Given the description of an element on the screen output the (x, y) to click on. 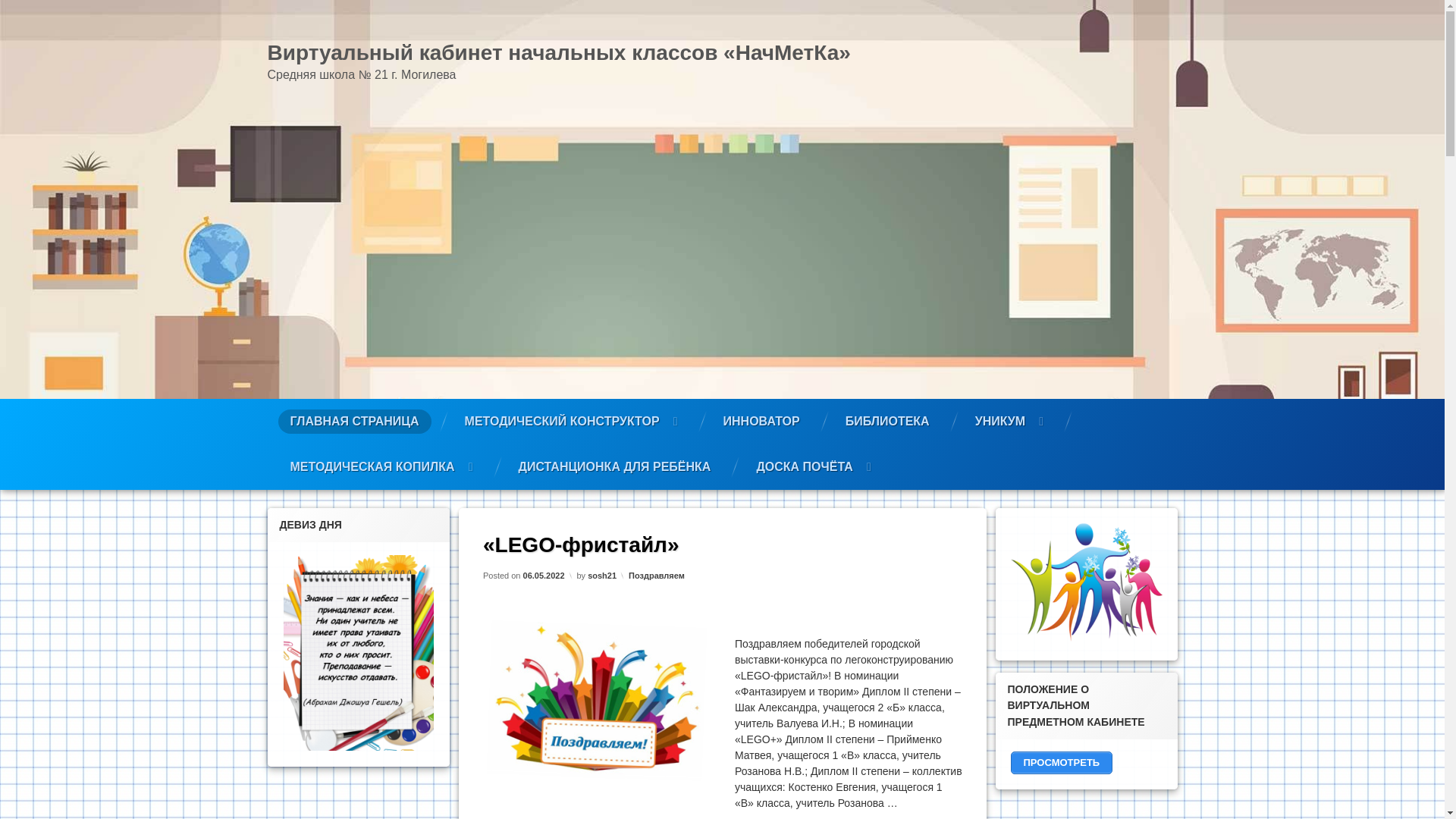
sosh21 Element type: text (601, 574)
06.05.2022 Element type: text (543, 574)
